Given the description of an element on the screen output the (x, y) to click on. 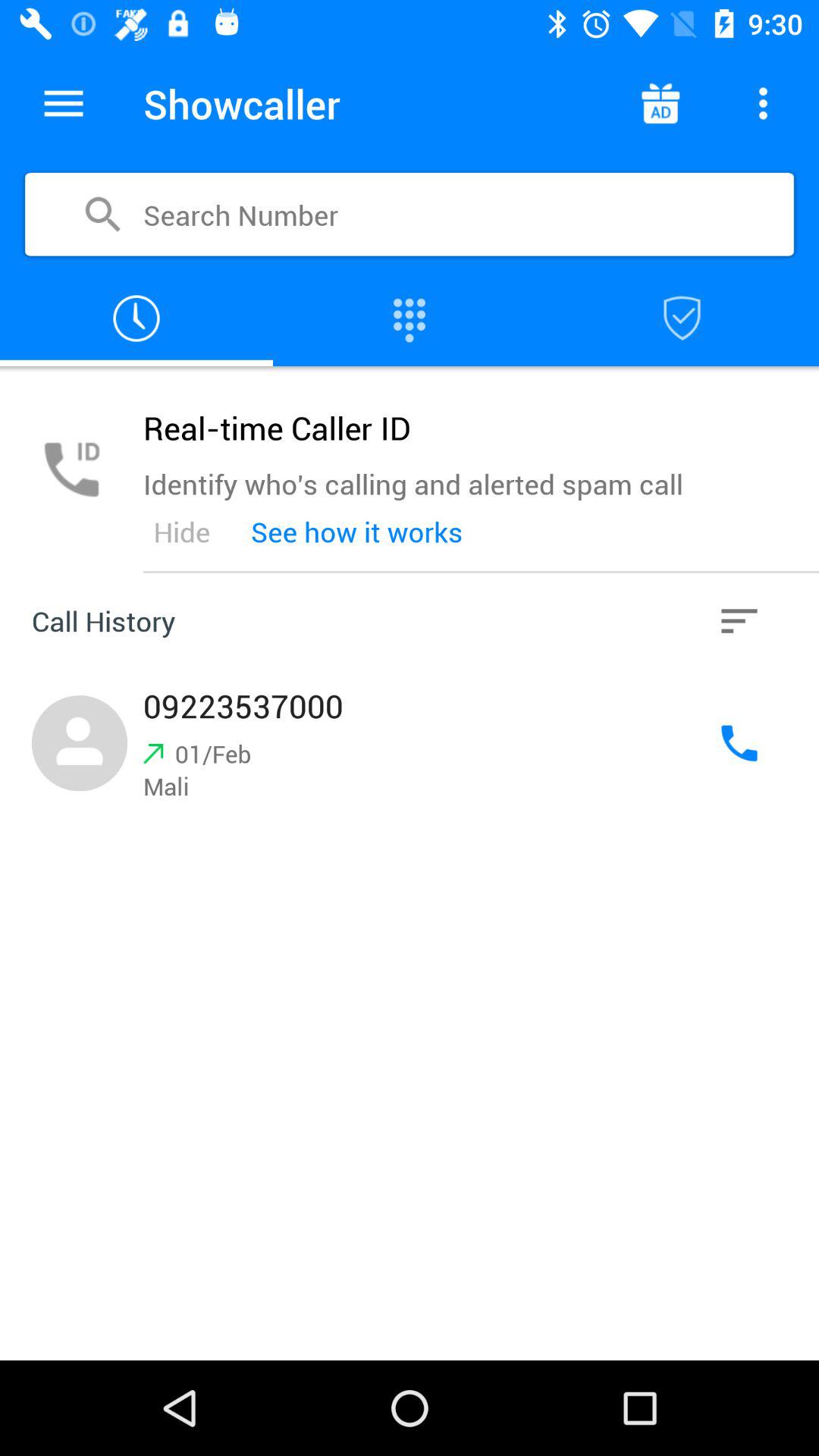
options (739, 620)
